Given the description of an element on the screen output the (x, y) to click on. 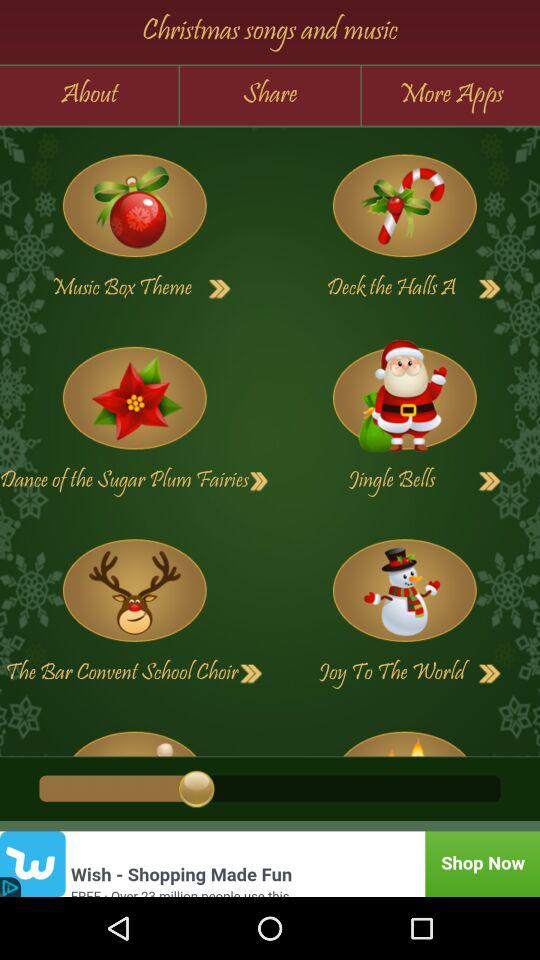
listen song (134, 398)
